Given the description of an element on the screen output the (x, y) to click on. 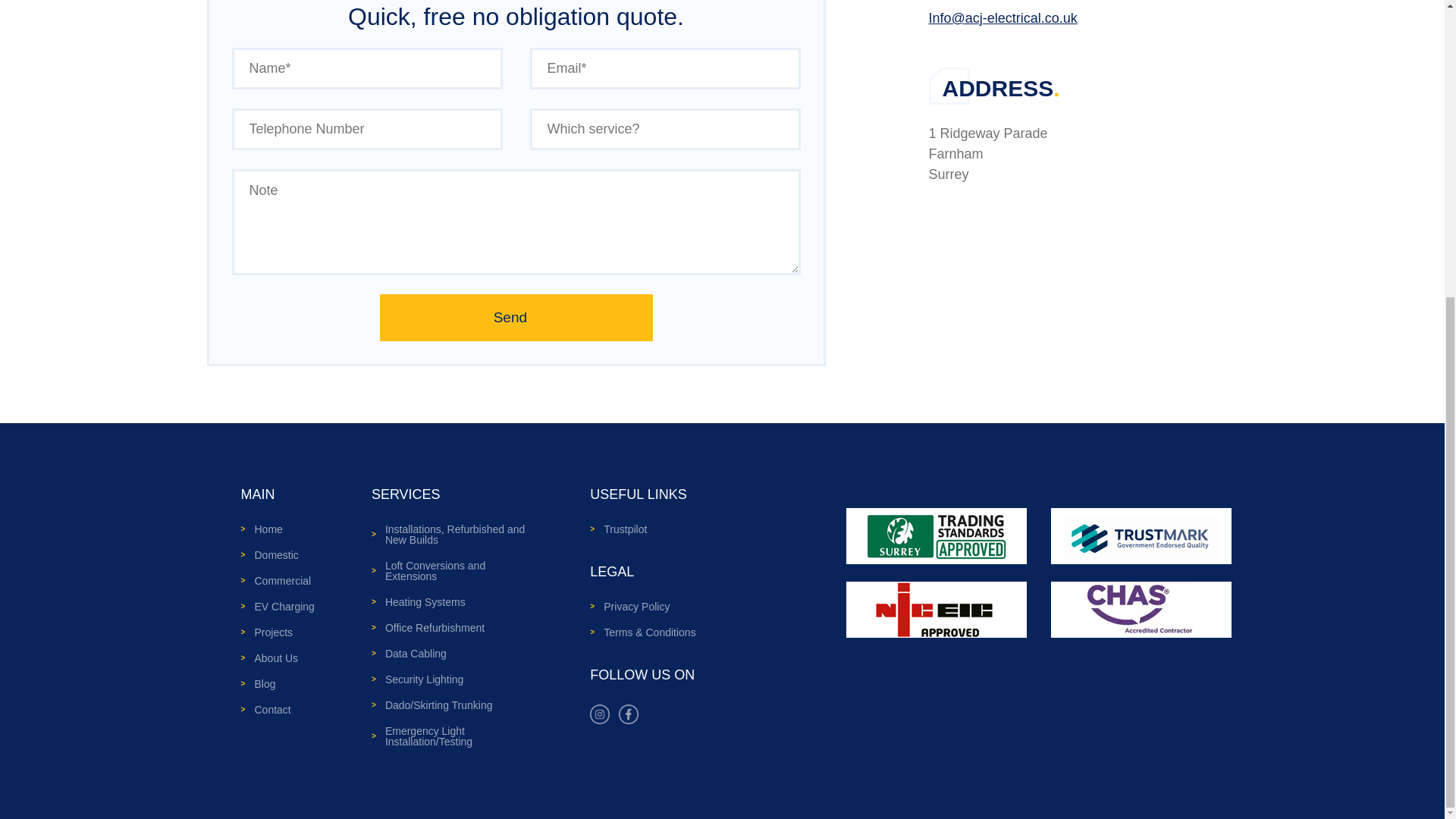
Home (277, 529)
About Us (277, 657)
Domestic (277, 555)
Blog (277, 683)
EV Charging (277, 606)
Send (515, 317)
Projects (277, 632)
Commercial (277, 580)
Contact (277, 709)
